Given the description of an element on the screen output the (x, y) to click on. 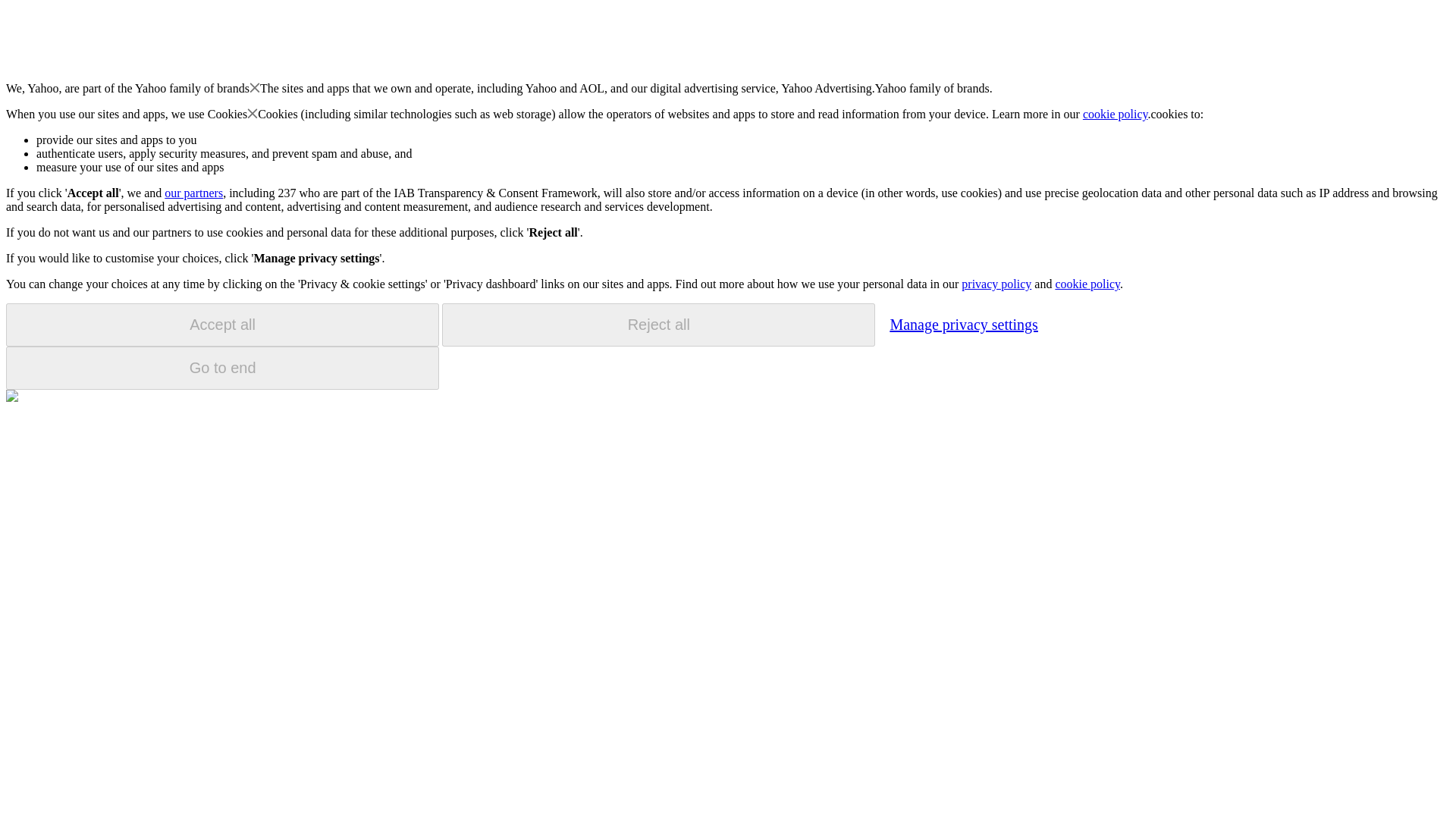
our partners (193, 192)
Reject all (658, 324)
Manage privacy settings (963, 323)
cookie policy (1086, 283)
Go to end (222, 367)
privacy policy (995, 283)
cookie policy (1115, 113)
Accept all (222, 324)
